Given the description of an element on the screen output the (x, y) to click on. 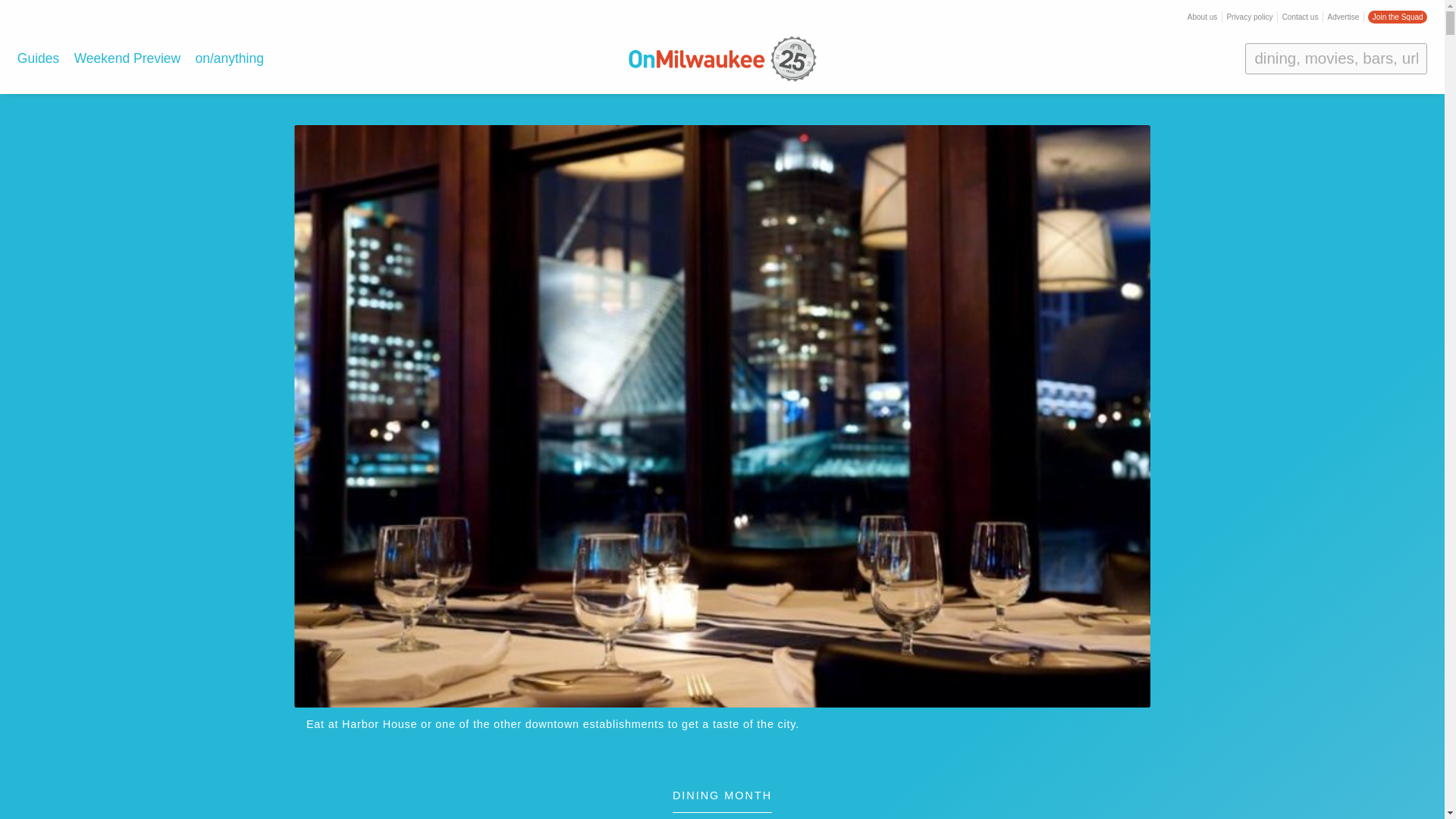
Contact us (1300, 17)
Advertise (1343, 17)
Guides (38, 58)
Privacy policy (1248, 17)
dining, movies, bars, urban spelunking (1335, 58)
Join the Squad (1397, 16)
Weekend Preview (127, 58)
DINING MONTH (721, 801)
dining, movies, bars, urban spelunking (1335, 58)
About us (1202, 17)
